Given the description of an element on the screen output the (x, y) to click on. 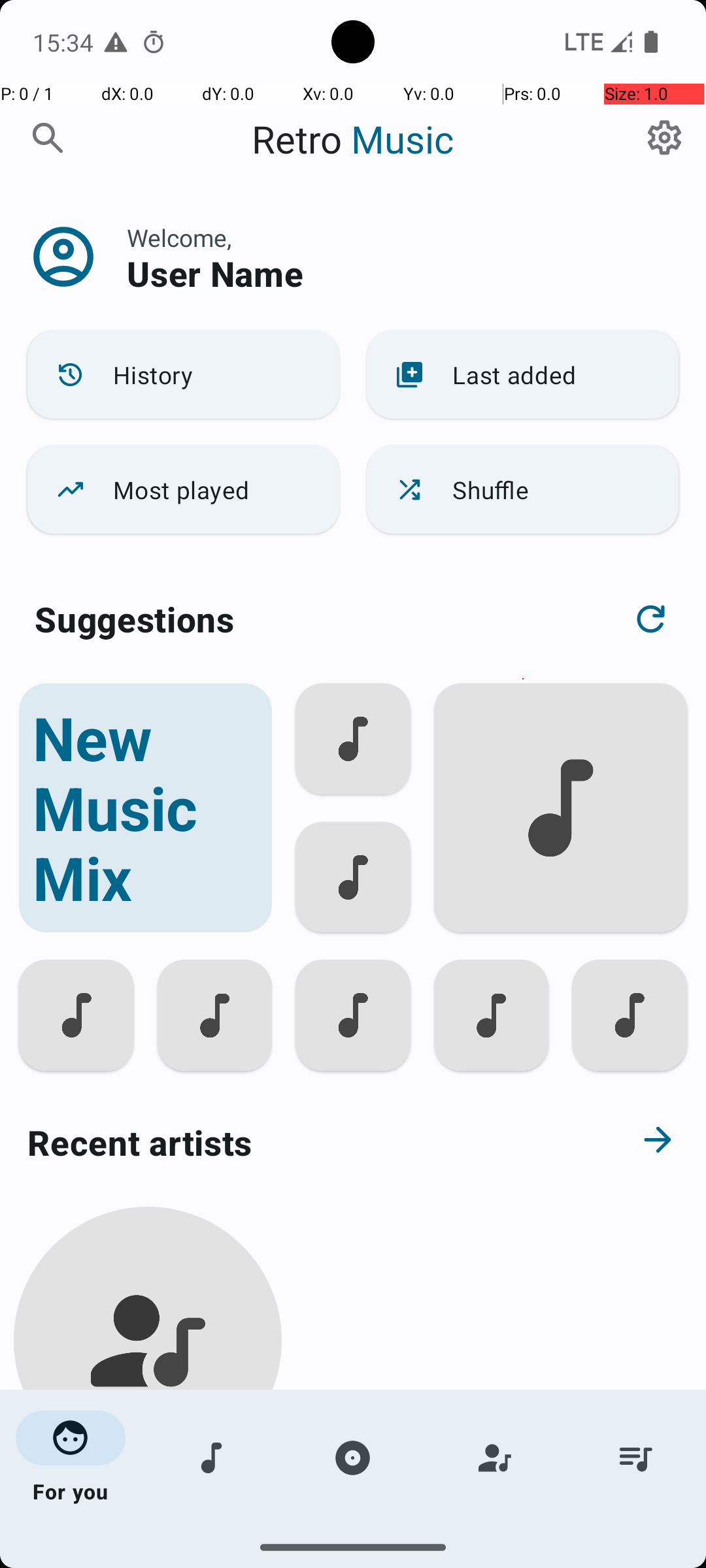
Adam Element type: android.widget.TextView (147, 1503)
